Given the description of an element on the screen output the (x, y) to click on. 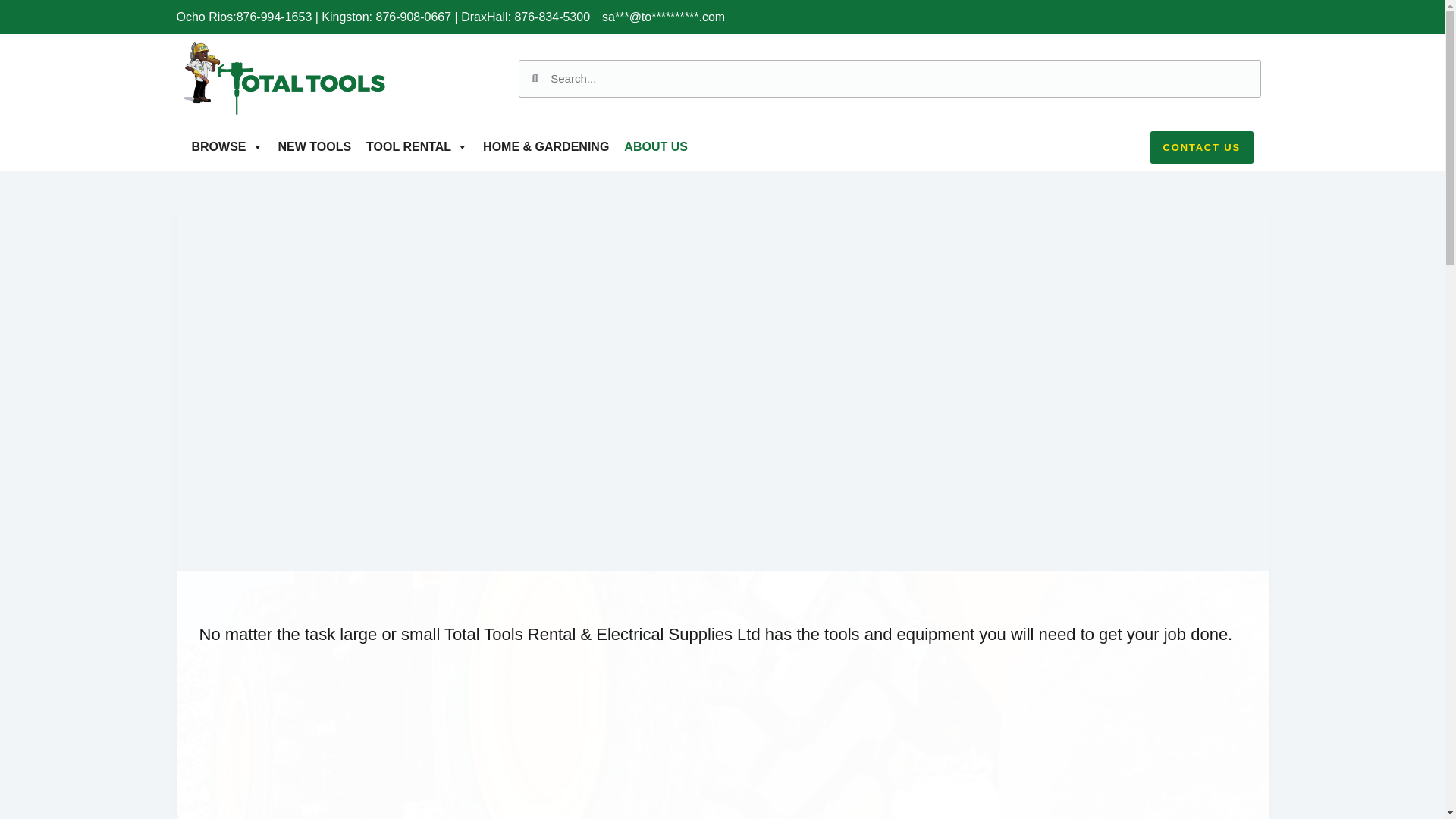
BROWSE (226, 146)
Skip to content (15, 7)
